Given the description of an element on the screen output the (x, y) to click on. 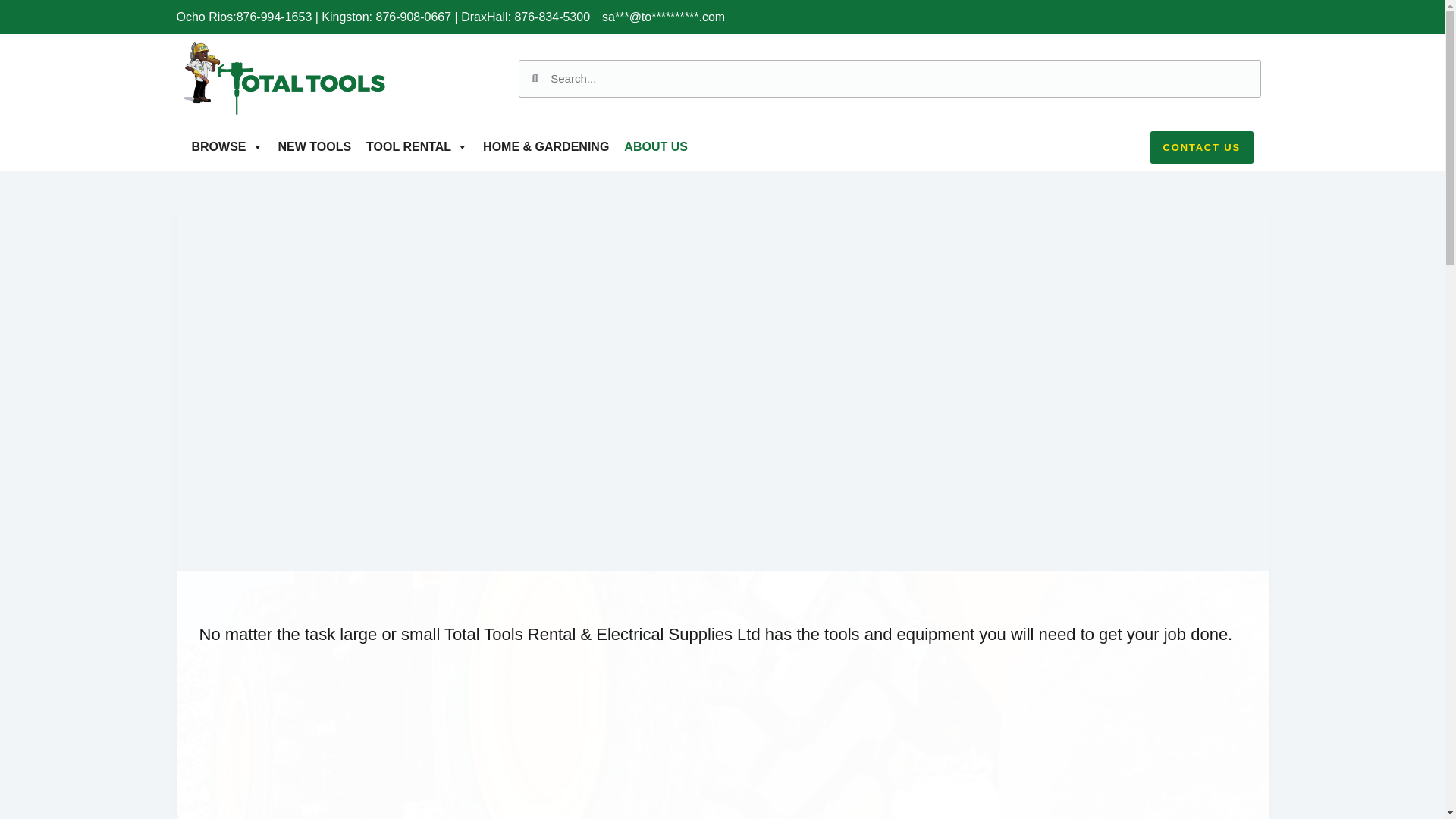
BROWSE (226, 146)
Skip to content (15, 7)
